Given the description of an element on the screen output the (x, y) to click on. 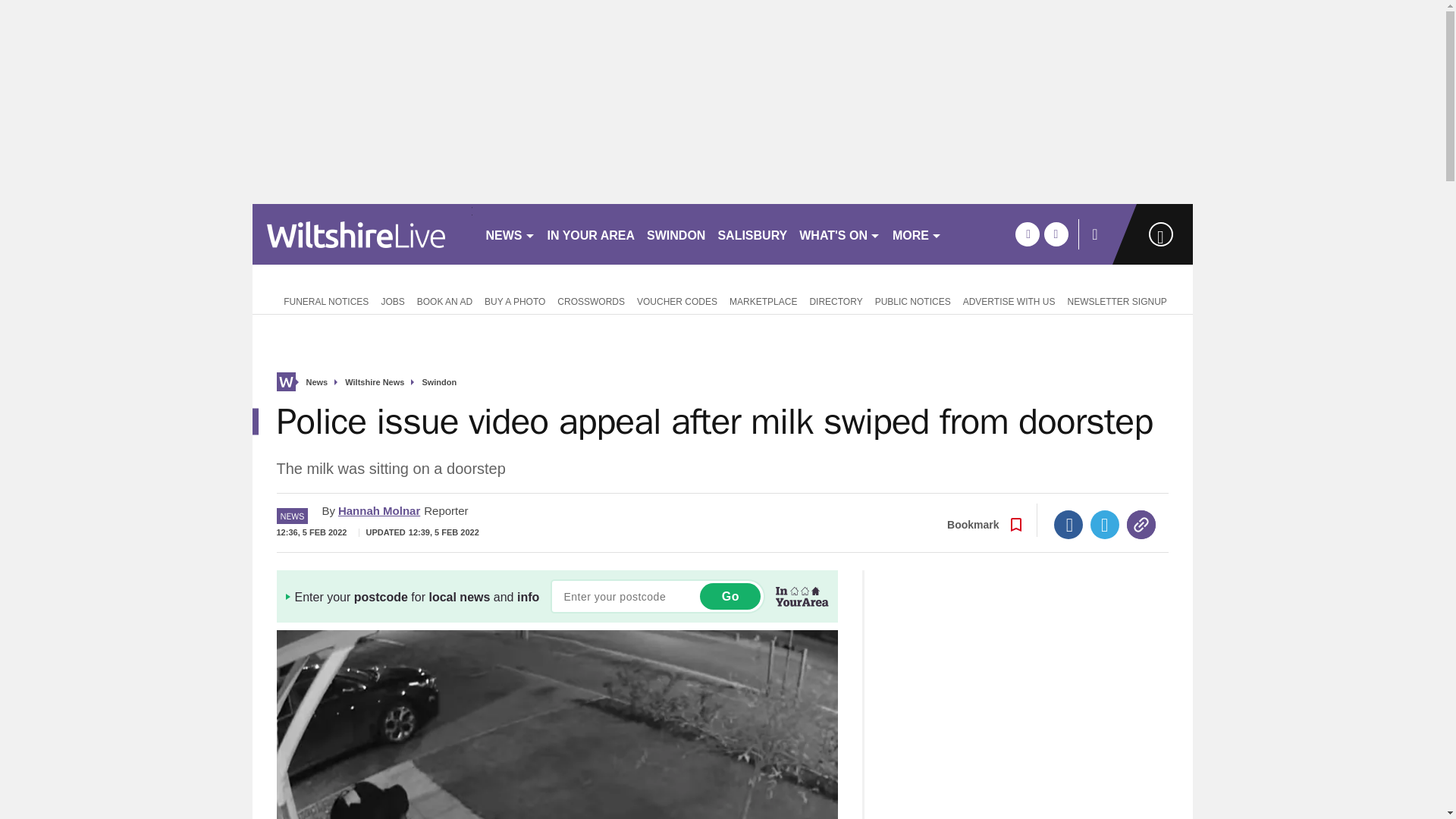
MORE (916, 233)
Twitter (1104, 524)
FUNERAL NOTICES (322, 300)
SALISBURY (752, 233)
ADVERTISE WITH US (1008, 300)
DIRECTORY (835, 300)
twitter (1055, 233)
facebook (1026, 233)
NEWS (509, 233)
BUY A PHOTO (515, 300)
